Given the description of an element on the screen output the (x, y) to click on. 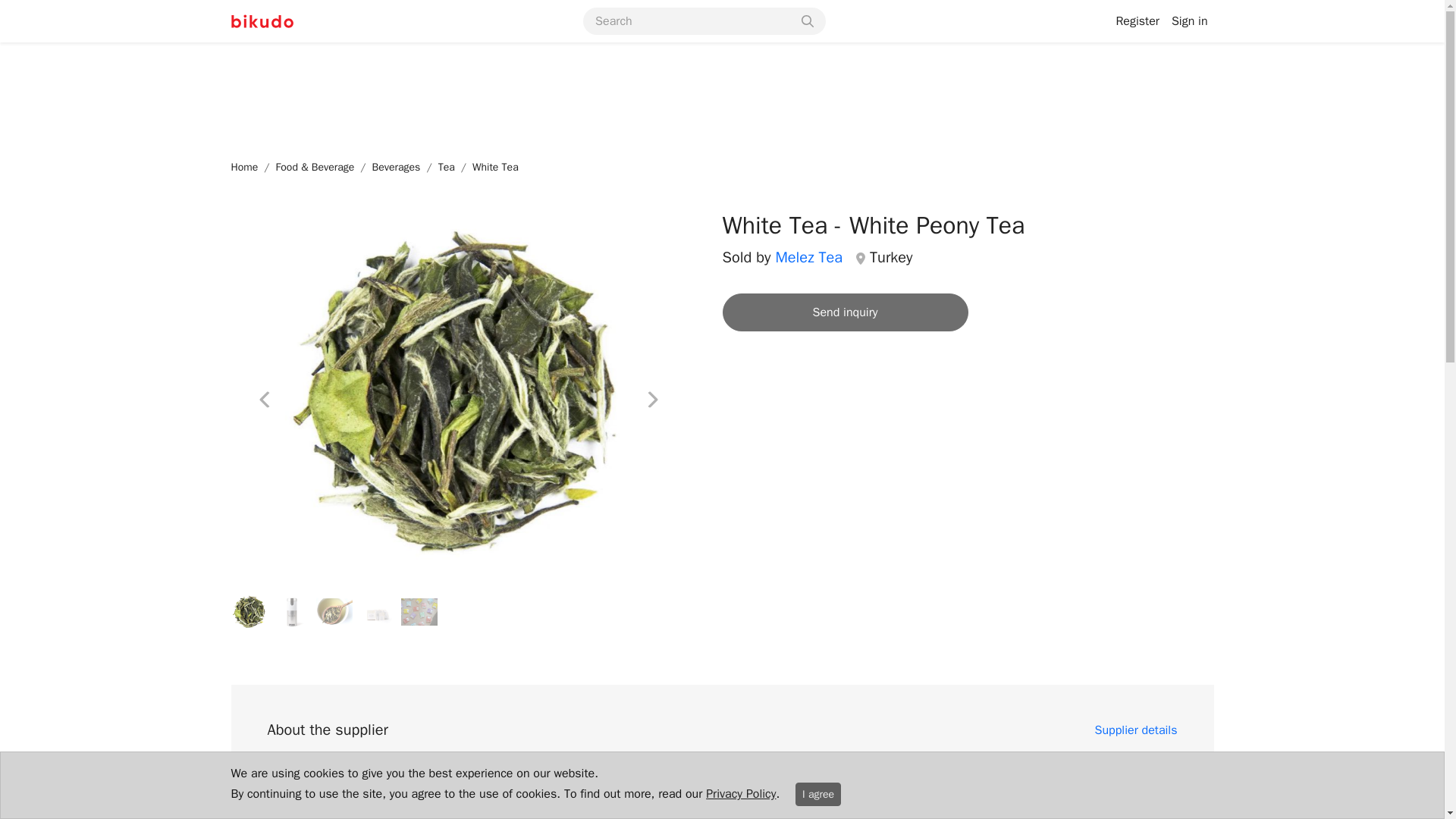
I agree (817, 793)
Send inquiry (845, 312)
Privacy Policy (741, 793)
Supplier details (1135, 733)
Melez Tea (348, 781)
White Tea (494, 166)
Advertisement (721, 94)
Beverages (396, 166)
Home (243, 166)
Register (1137, 20)
